Given the description of an element on the screen output the (x, y) to click on. 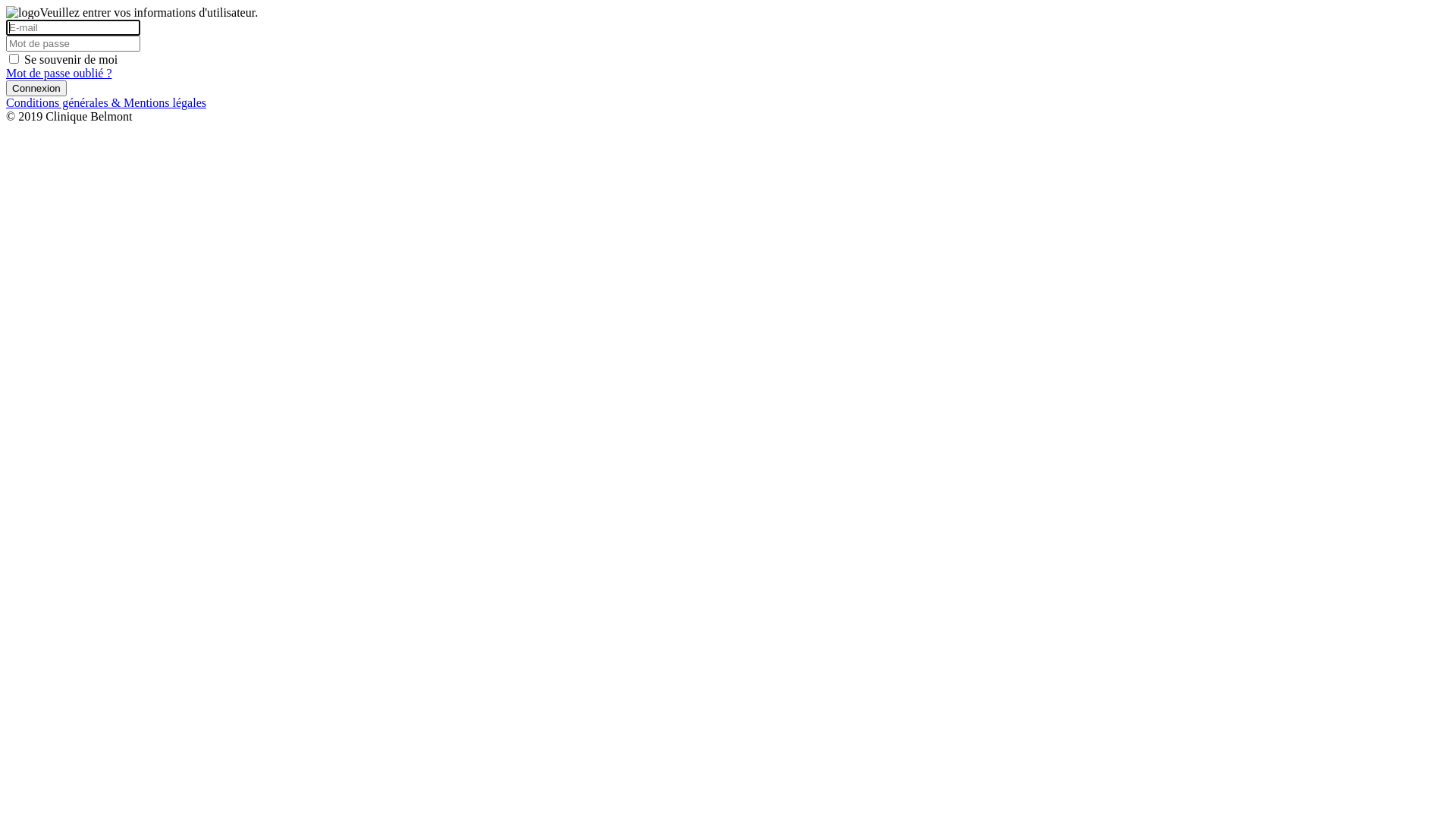
Connexion Element type: text (36, 88)
